Given the description of an element on the screen output the (x, y) to click on. 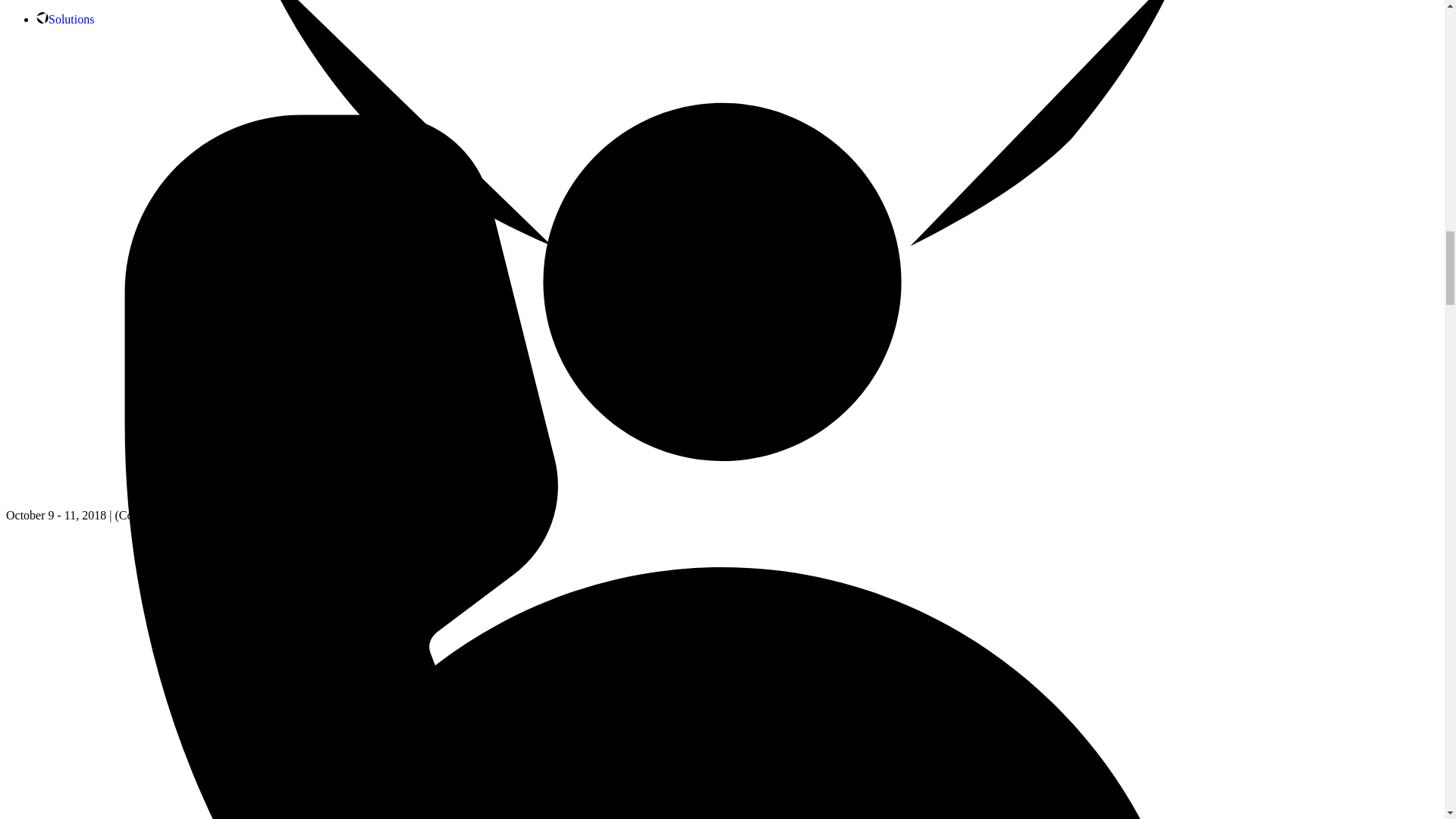
Send Message (63, 423)
Contact Us (63, 423)
